Given the description of an element on the screen output the (x, y) to click on. 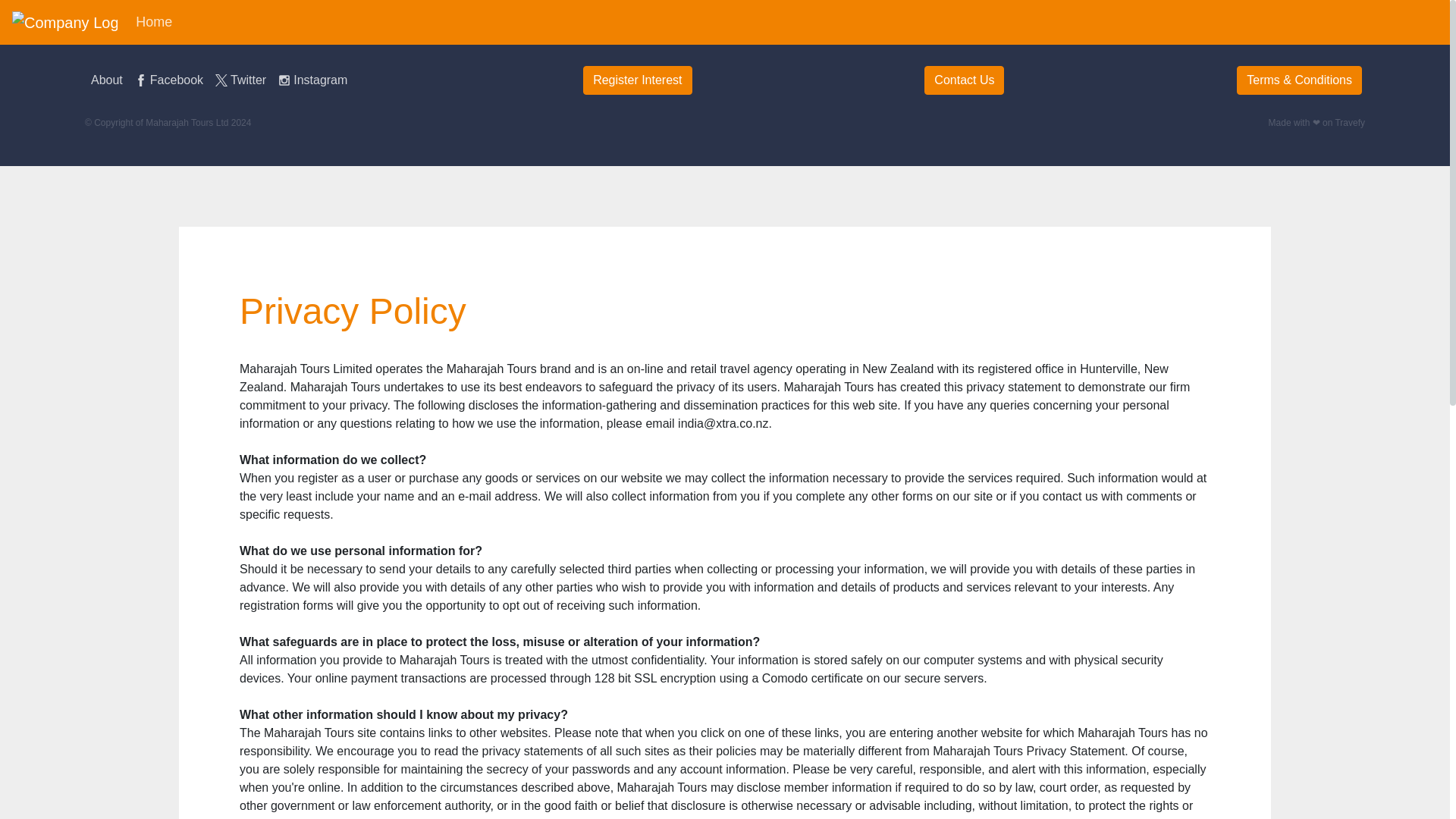
Facebook (169, 80)
Twitter (240, 80)
Home (153, 21)
Instagram (312, 80)
About (106, 80)
Register Interest (637, 80)
Contact Us (964, 80)
